Given the description of an element on the screen output the (x, y) to click on. 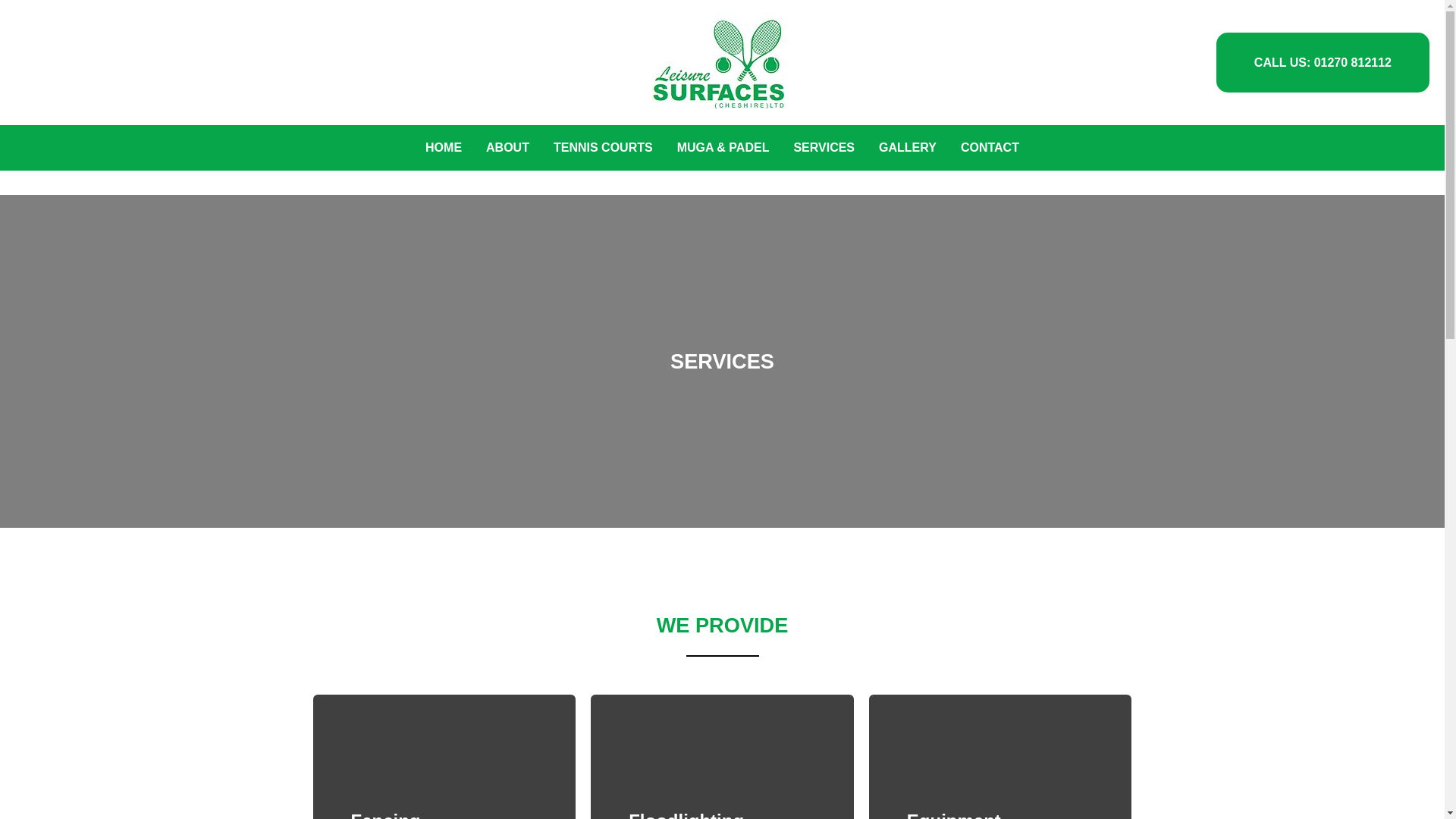
ABOUT (507, 147)
CALL US: 01270 812112 (1322, 62)
CONTACT (989, 147)
GALLERY (907, 147)
SERVICES (823, 147)
HOME (443, 147)
TENNIS COURTS (603, 147)
